Given the description of an element on the screen output the (x, y) to click on. 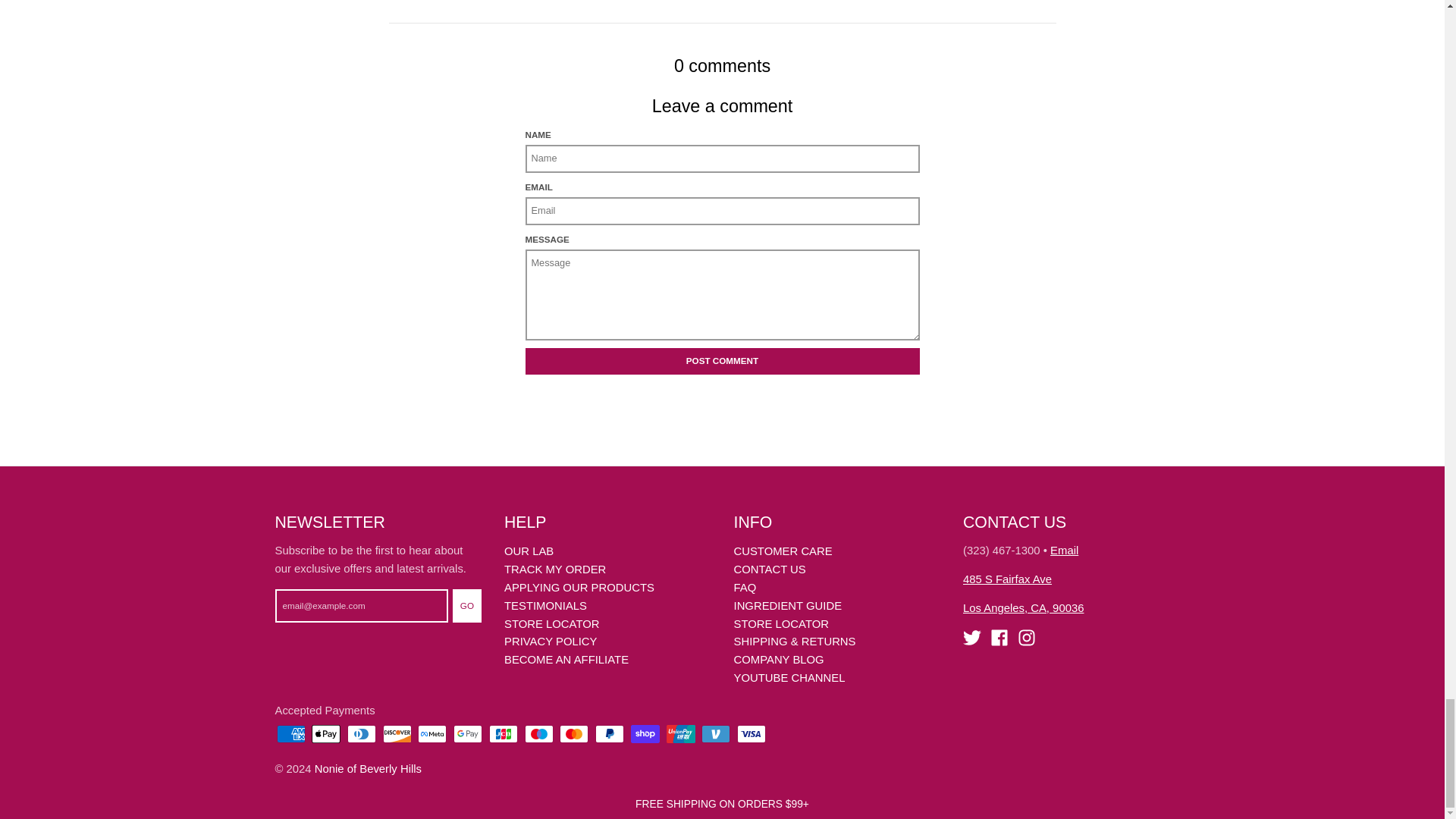
Post comment (721, 361)
Facebook - Nonie of Beverly Hills (999, 637)
Our Location (1006, 579)
Twitter - Nonie of Beverly Hills (971, 637)
Instagram - Nonie of Beverly Hills (1026, 637)
Our Location (1022, 607)
